Given the description of an element on the screen output the (x, y) to click on. 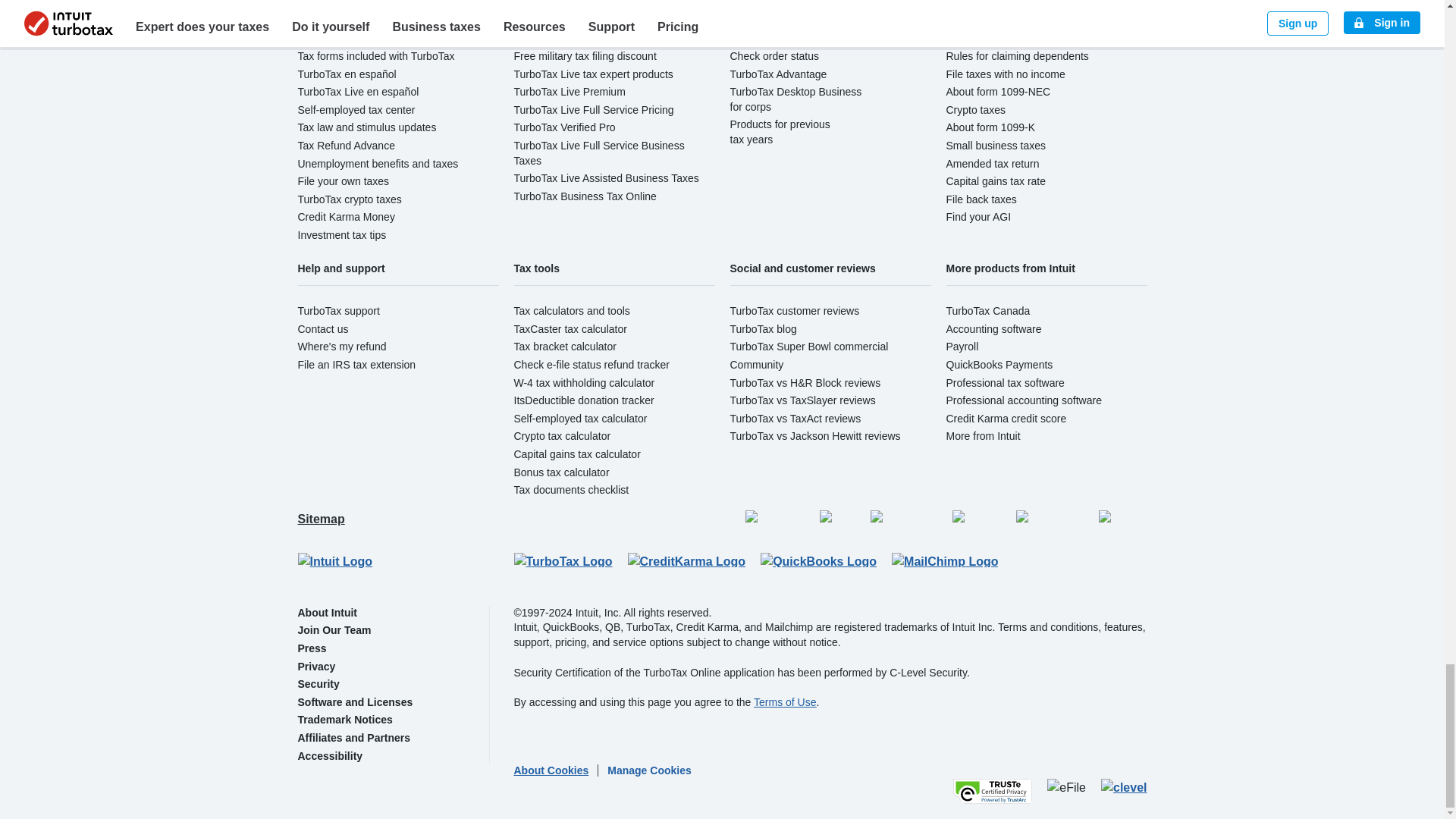
Free Military tax filing discount (584, 55)
TurboTax Verified Pro (564, 127)
Install TurboTax Desktop (787, 37)
Free Edition tax filing (562, 4)
Deluxe to maximize tax deductions (595, 20)
TurboTax Live tax expert products (592, 73)
Check order status (773, 55)
All online tax preparation software (377, 4)
